Given the description of an element on the screen output the (x, y) to click on. 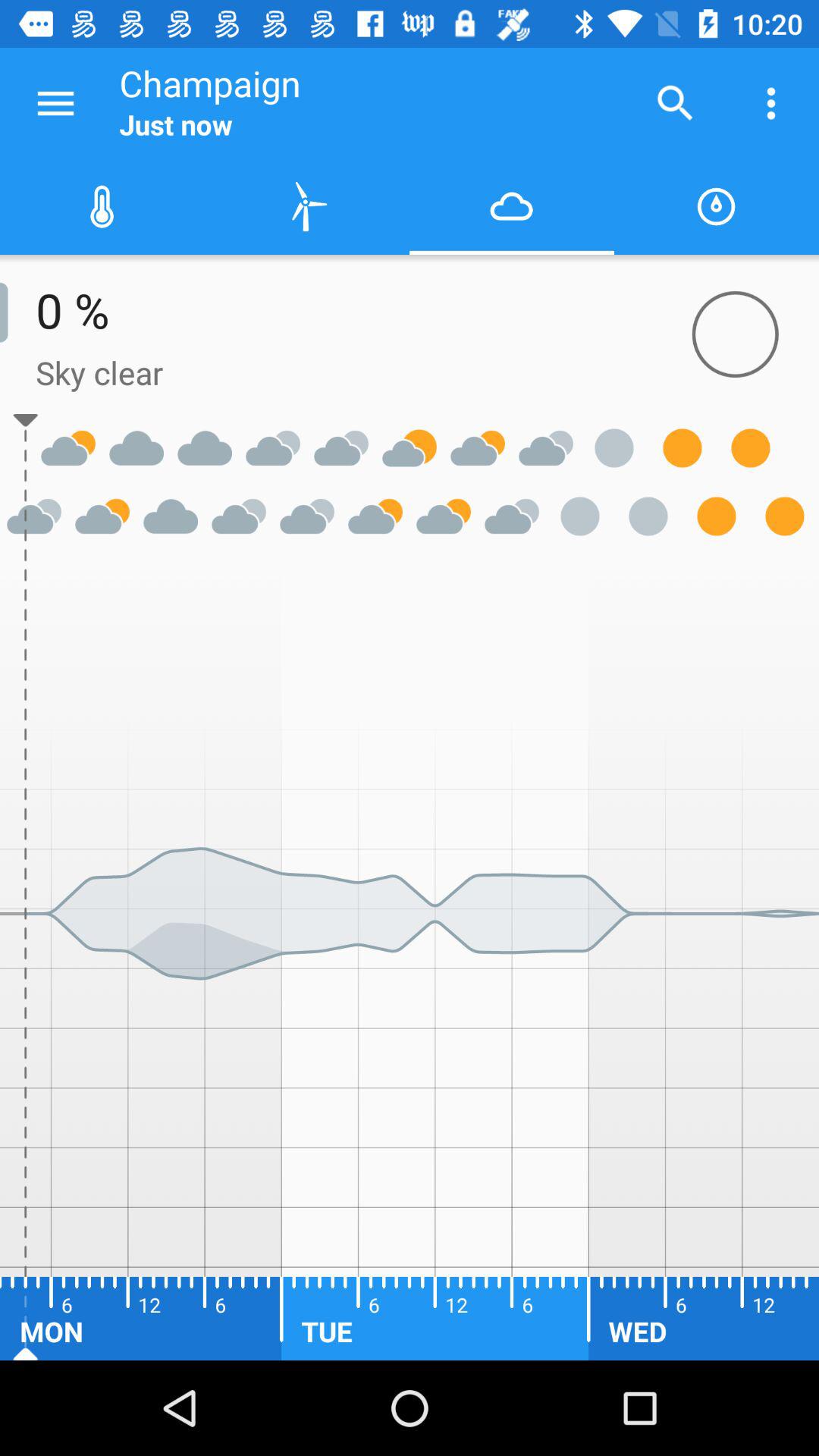
turn on the icon to the right of the champaign item (675, 103)
